Given the description of an element on the screen output the (x, y) to click on. 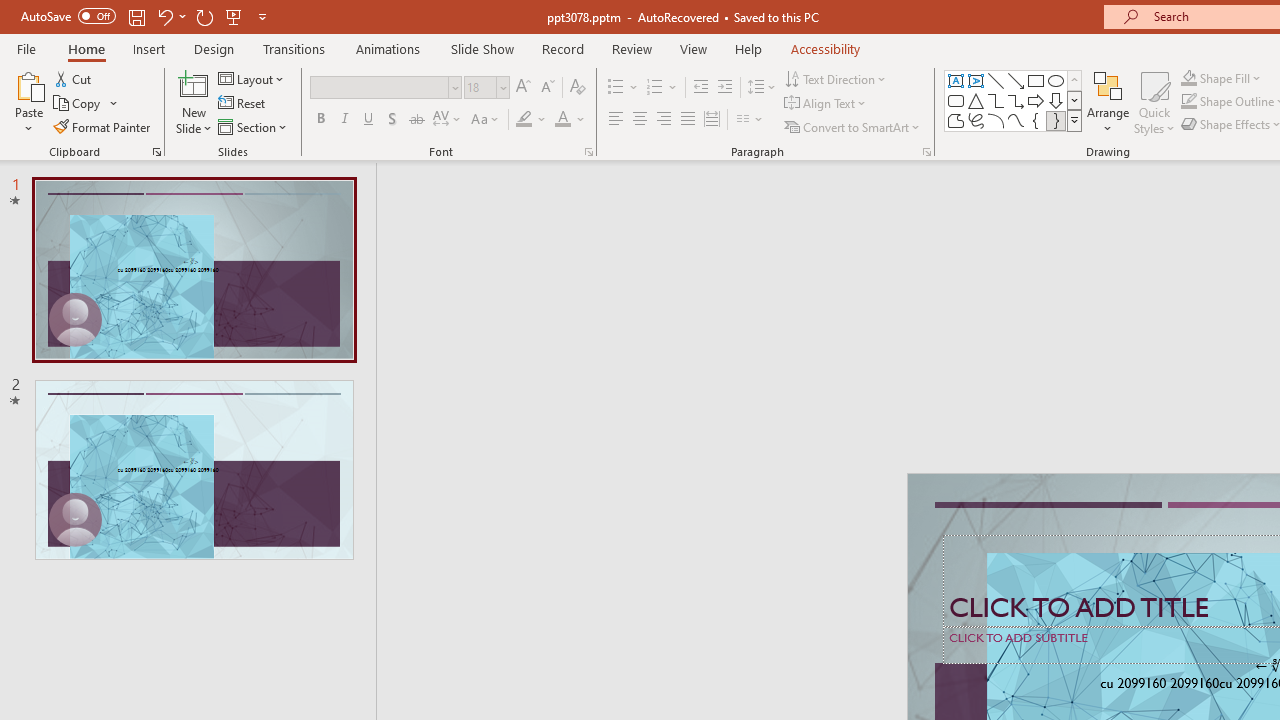
Freeform: Scribble (975, 120)
Freeform: Shape (955, 120)
Font (385, 87)
Increase Indent (725, 87)
Format Painter (103, 126)
AutomationID: ShapesInsertGallery (1014, 100)
Copy (85, 103)
Strikethrough (416, 119)
Convert to SmartArt (853, 126)
Clear Formatting (577, 87)
Font Color Red (562, 119)
Font... (588, 151)
